Given the description of an element on the screen output the (x, y) to click on. 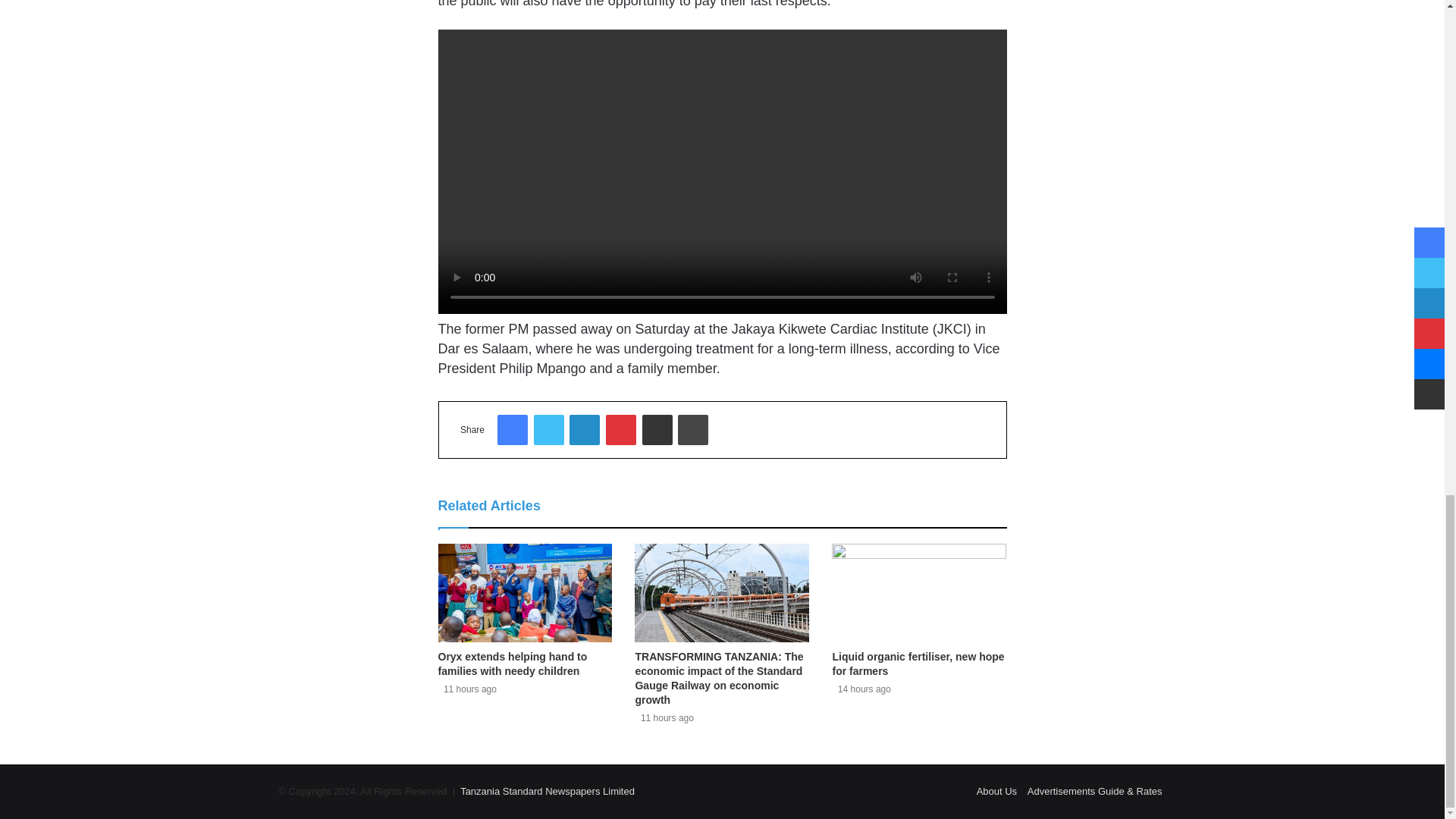
Print (692, 429)
LinkedIn (584, 429)
Twitter (549, 429)
Facebook (512, 429)
Pinterest (620, 429)
Share via Email (656, 429)
LinkedIn (584, 429)
Pinterest (620, 429)
Facebook (512, 429)
Twitter (549, 429)
